Given the description of an element on the screen output the (x, y) to click on. 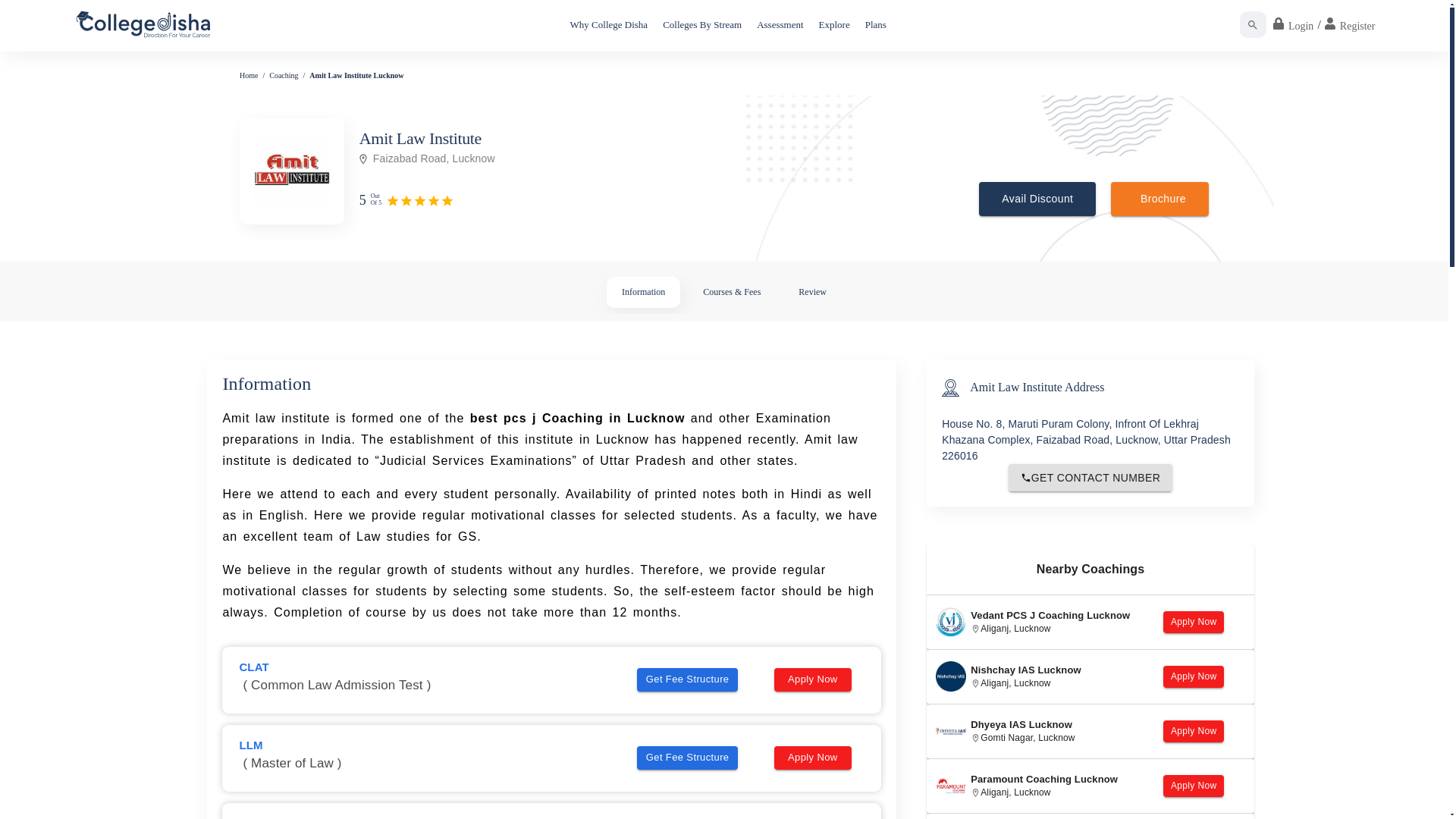
Explore (834, 24)
Search (1253, 24)
Plans (875, 24)
Home (248, 75)
Amit Law Institute Lucknow (355, 75)
Why College Disha (609, 24)
Colleges By Stream (702, 24)
Login (1292, 23)
Coaching (283, 75)
Assessment (779, 24)
Register (1349, 23)
Avail Discount (1037, 198)
